Given the description of an element on the screen output the (x, y) to click on. 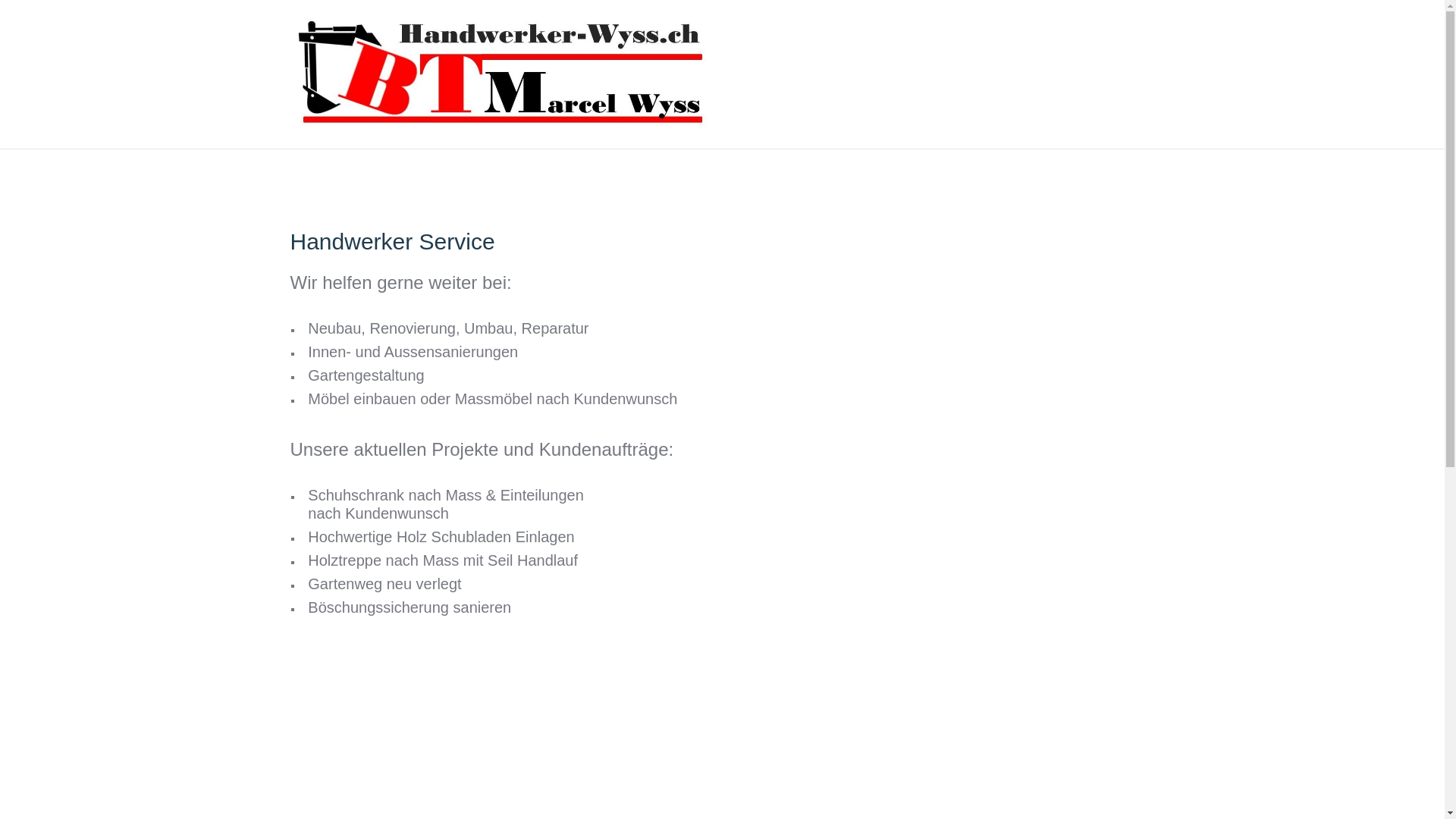
BauTransManagement GmbH Element type: hover (501, 72)
